Given the description of an element on the screen output the (x, y) to click on. 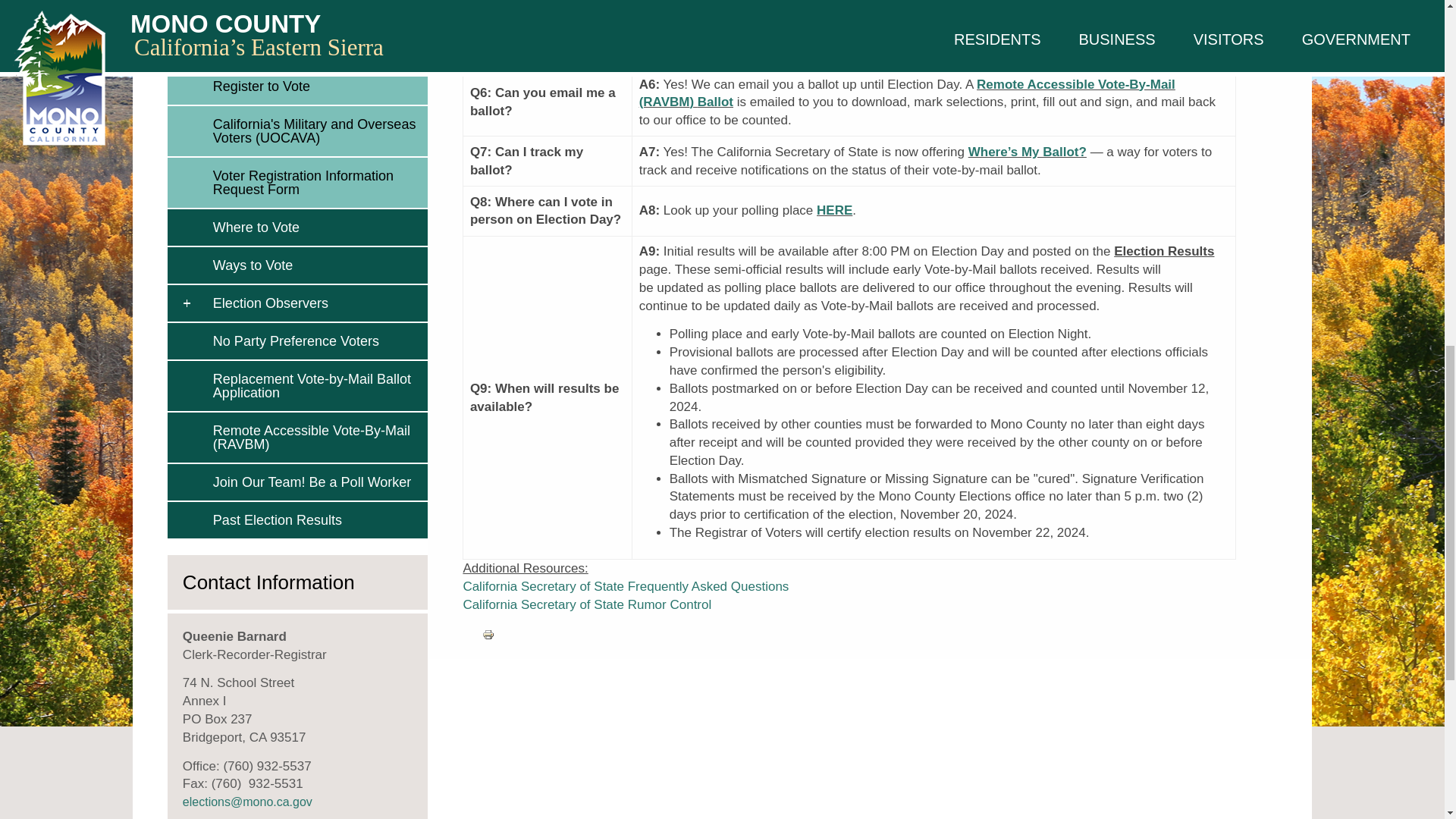
No Party Preference Voters (316, 340)
Voter Registration Information Request Form (316, 183)
Printer-friendly version (488, 634)
